Given the description of an element on the screen output the (x, y) to click on. 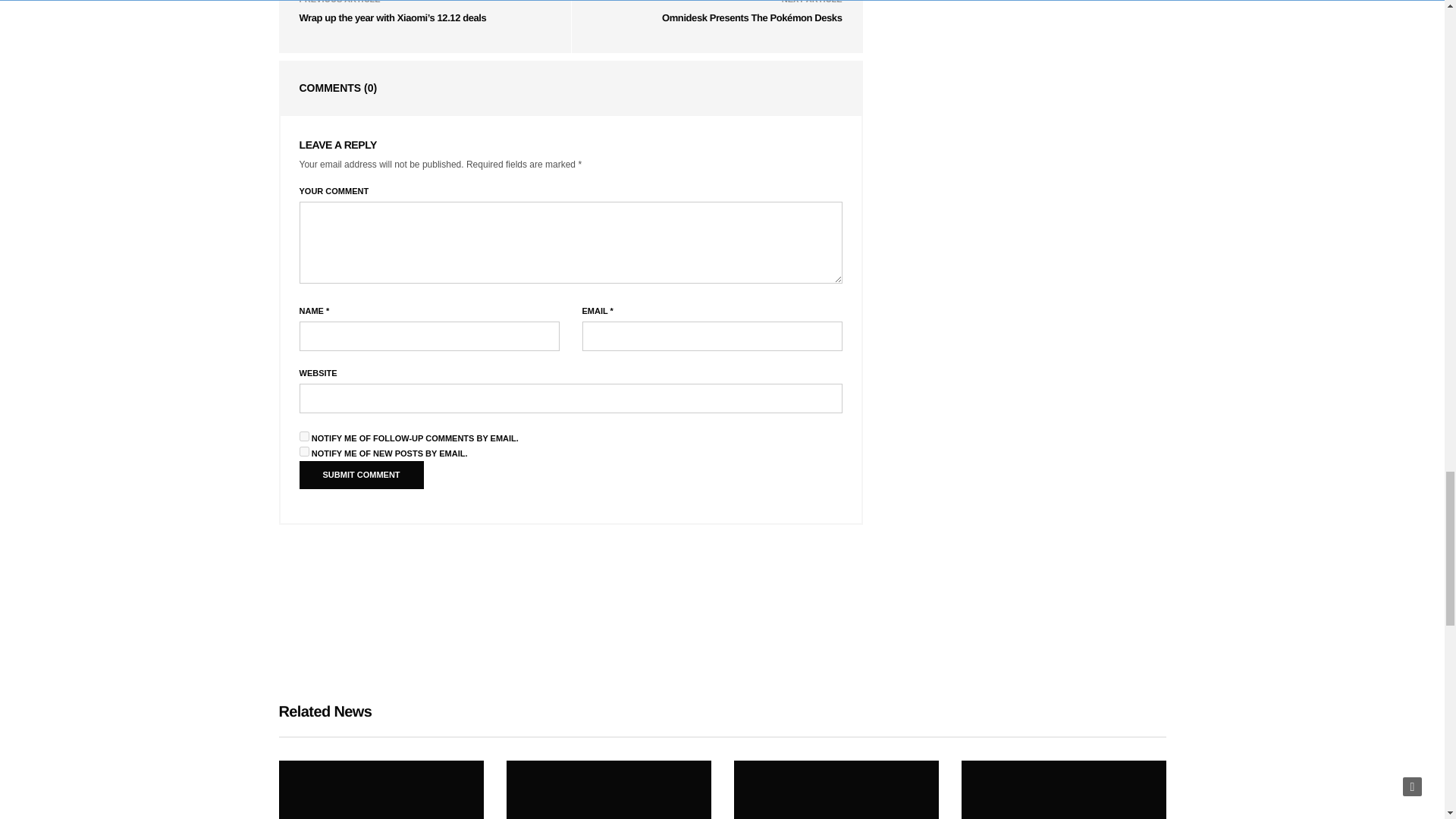
Submit Comment (360, 474)
subscribe (303, 436)
subscribe (303, 451)
